Given the description of an element on the screen output the (x, y) to click on. 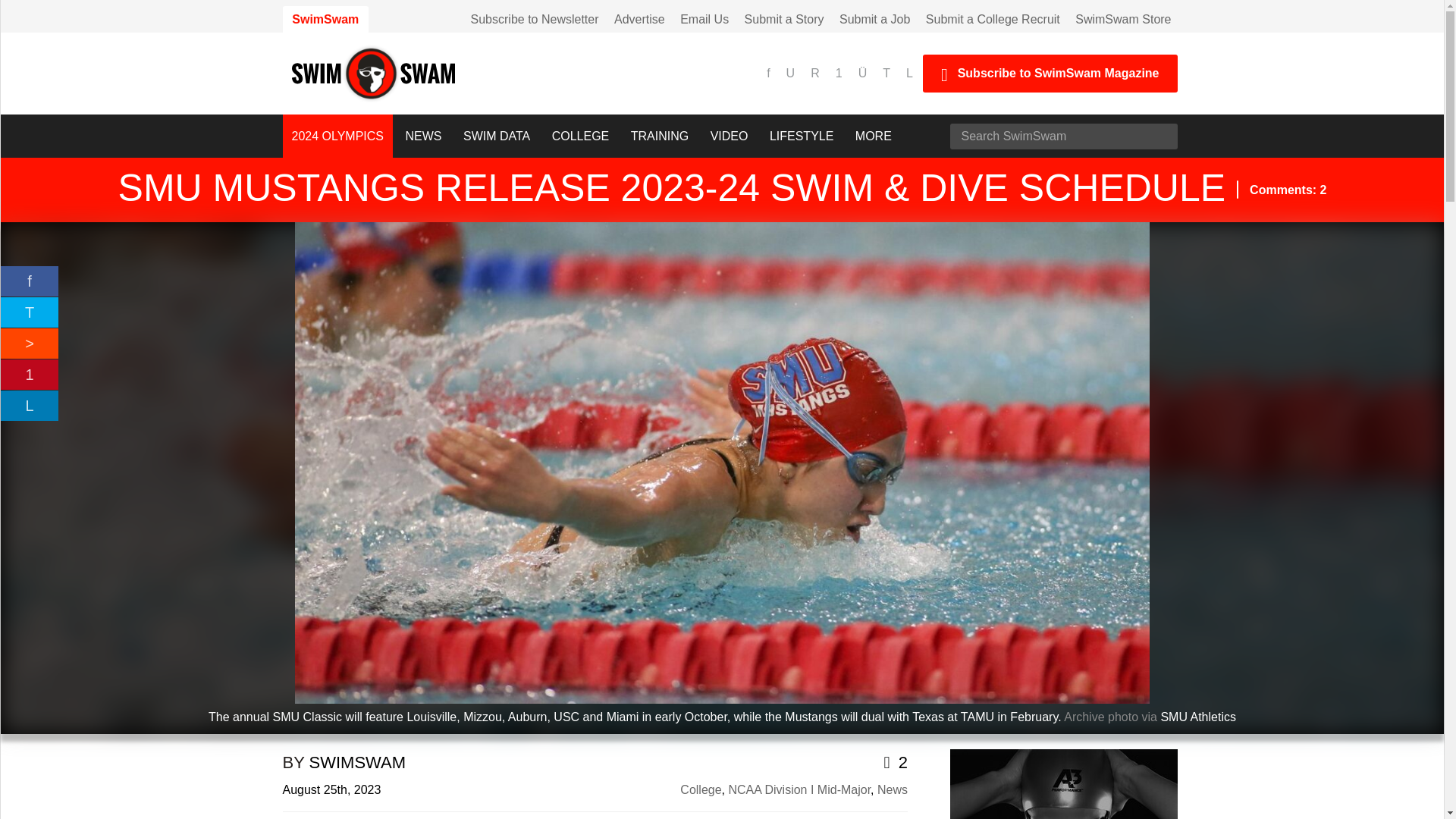
SwimSwam RSS Feed (817, 72)
Advertise (639, 18)
SwimSwam on Youtube (792, 72)
SwimSwam Store (1122, 18)
Subscribe to SwimSwam Magazine (1050, 73)
Search SwimSwam (1062, 136)
Email Us (704, 18)
SwimSwam on Pinterest (840, 72)
Subscribe to Newsletter (534, 18)
Submit a Job (873, 18)
